Given the description of an element on the screen output the (x, y) to click on. 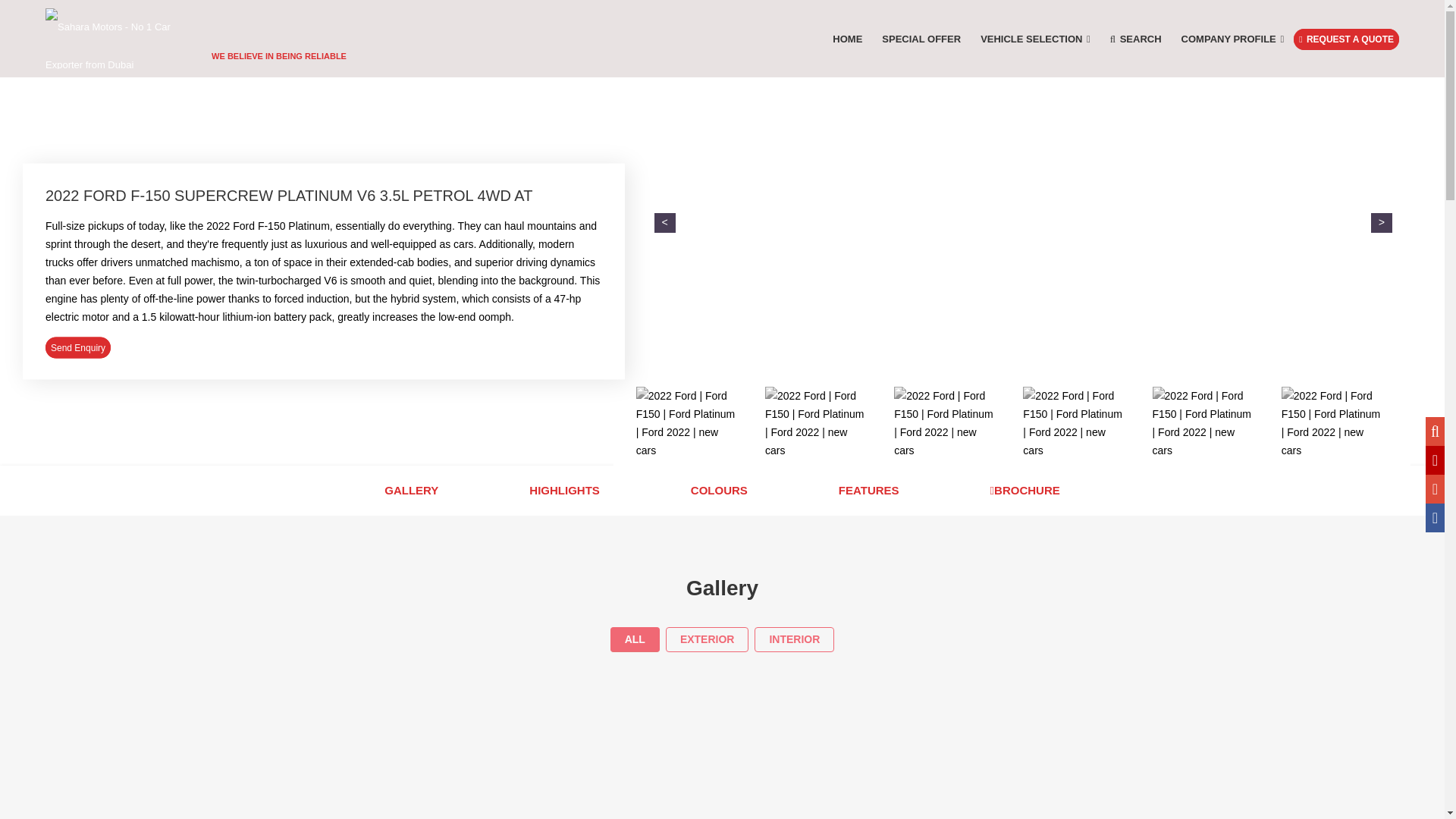
Previous (664, 222)
SPECIAL OFFER (921, 39)
Next (1381, 222)
VEHICLE SELECTION (1035, 39)
